Given the description of an element on the screen output the (x, y) to click on. 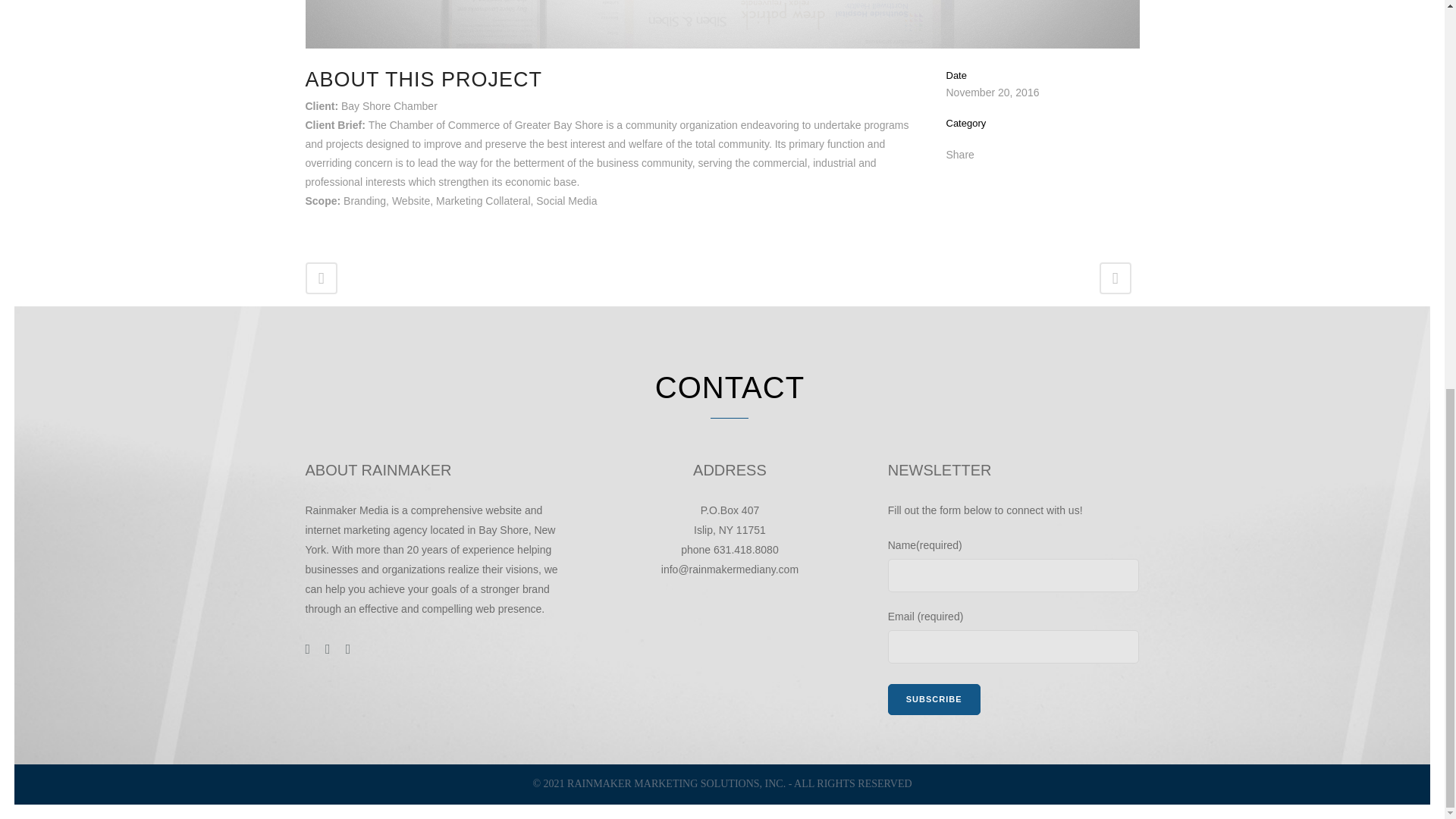
Subscribe (933, 698)
Subscribe (933, 698)
Share (960, 154)
